Given the description of an element on the screen output the (x, y) to click on. 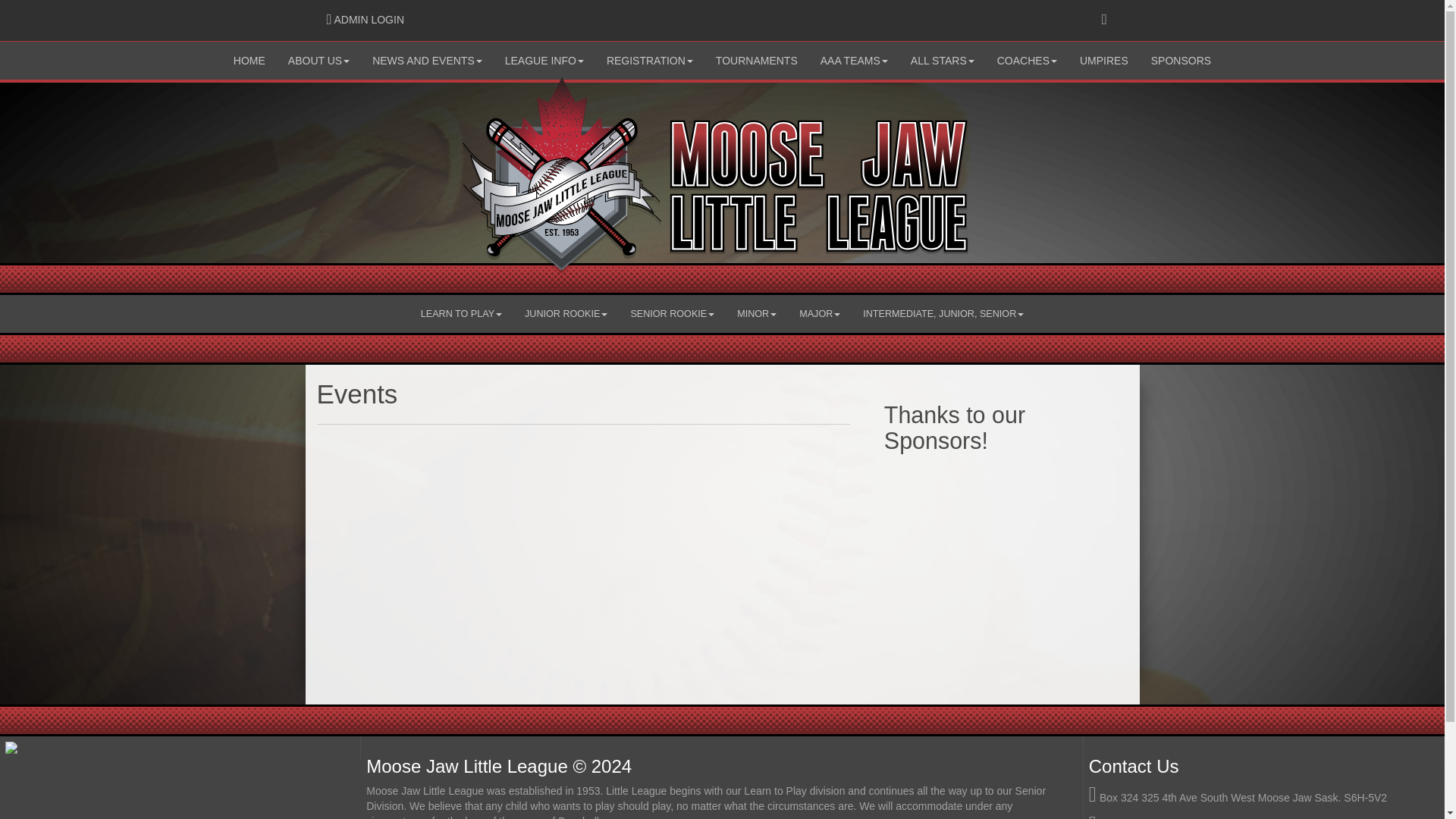
SPONSORS (365, 20)
ALL STARS (1181, 60)
TOURNAMENTS (942, 60)
ABOUT US (756, 60)
Facebook (318, 60)
HOME (1104, 20)
UMPIRES (249, 60)
LEARN TO PLAY (1104, 60)
REGISTRATION (461, 313)
NEWS AND EVENTS (649, 60)
LEAGUE INFO (427, 60)
AAA TEAMS (544, 60)
COACHES (854, 60)
